Given the description of an element on the screen output the (x, y) to click on. 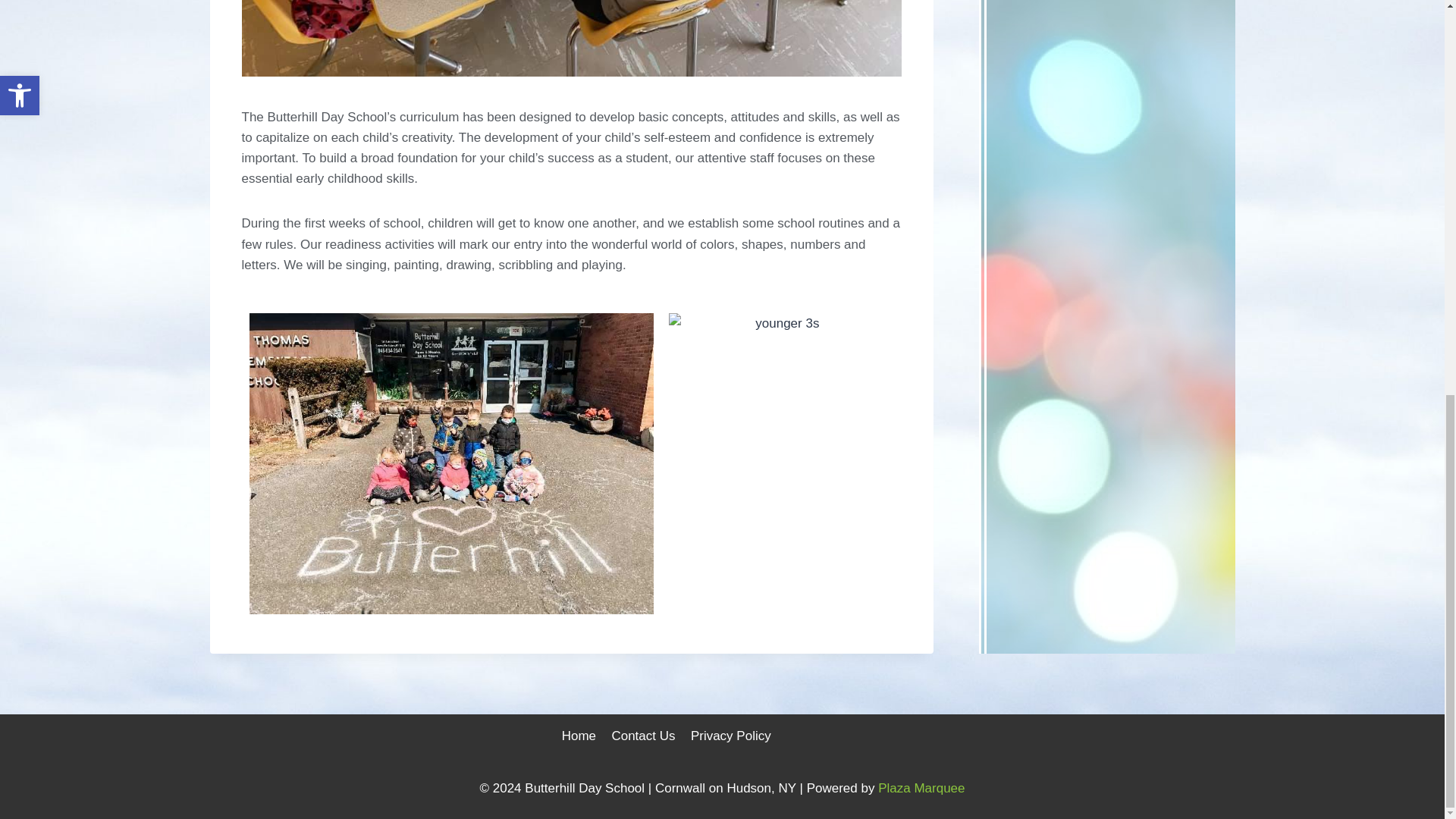
Contact Us (643, 735)
Home (578, 735)
3 Year Olds 1 (571, 38)
Privacy Policy (730, 735)
3 Year Olds 2 (450, 463)
